Given the description of an element on the screen output the (x, y) to click on. 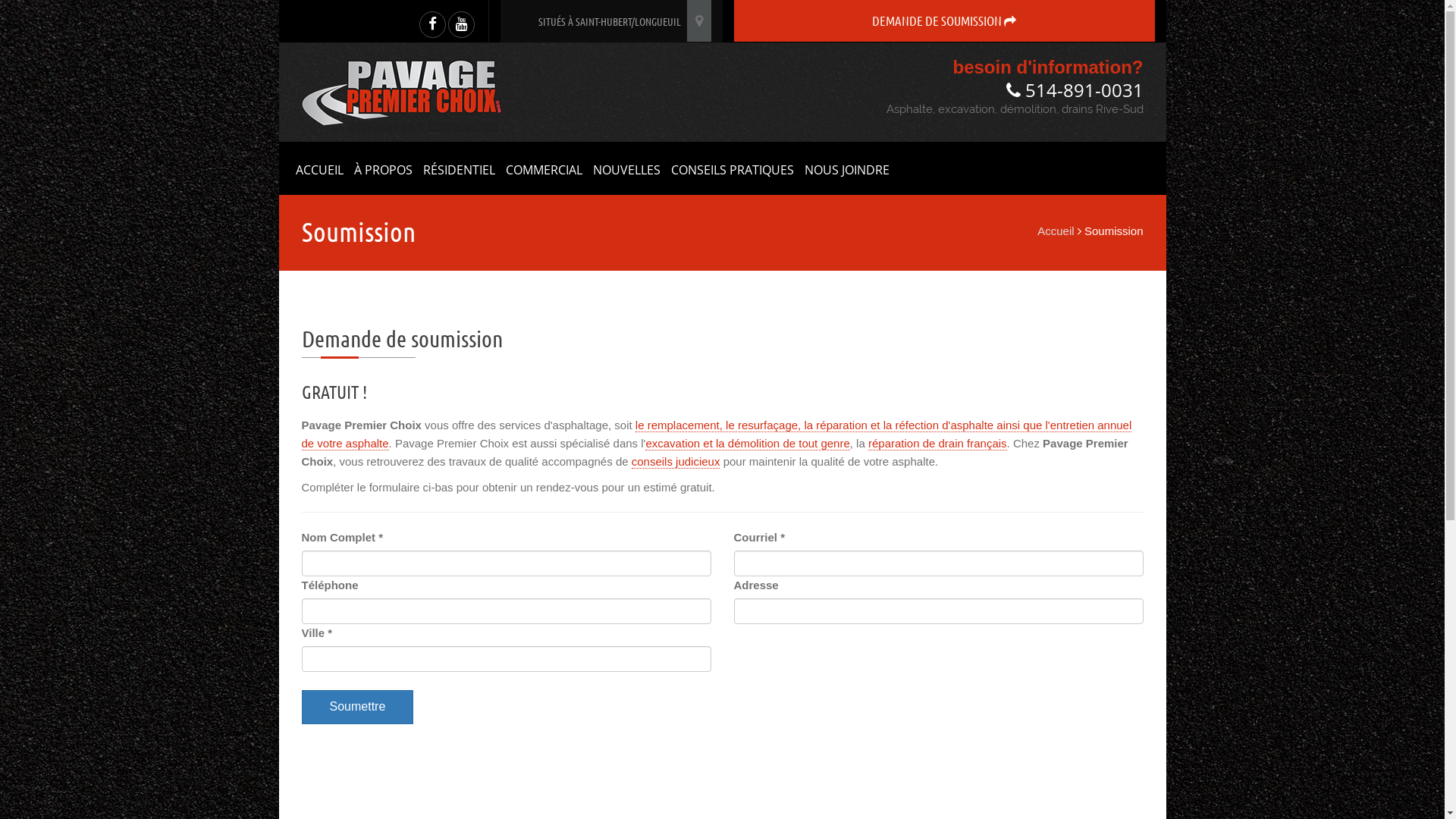
conseils judicieux Element type: text (675, 461)
DEMANDE DE SOUMISSION Element type: text (944, 20)
NOUS JOINDRE Element type: text (846, 167)
NOUVELLES Element type: text (625, 167)
Accueil Element type: text (1055, 230)
ACCUEIL Element type: text (318, 167)
COMMERCIAL Element type: text (543, 167)
Soumettre Element type: text (357, 707)
514-891-0031 Element type: text (1073, 89)
CONSEILS PRATIQUES Element type: text (732, 167)
